Given the description of an element on the screen output the (x, y) to click on. 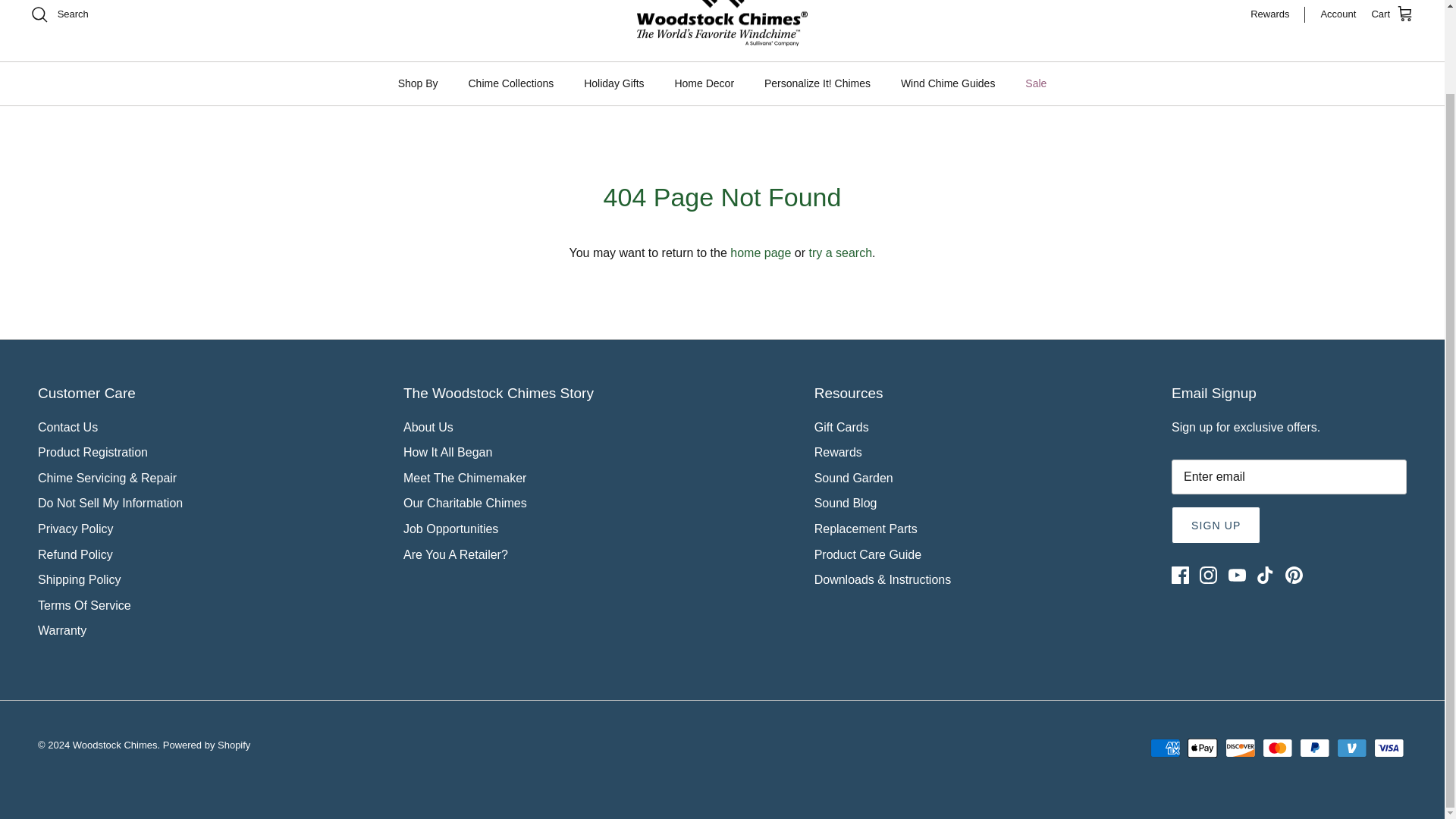
Apple Pay (1202, 747)
Account (1337, 14)
Rewards (1277, 14)
PayPal (1314, 747)
Cart (1392, 14)
Instagram (1208, 574)
Woodstock Chimes (722, 23)
Facebook (1180, 574)
Youtube (1237, 574)
Visa (1388, 747)
